Given the description of an element on the screen output the (x, y) to click on. 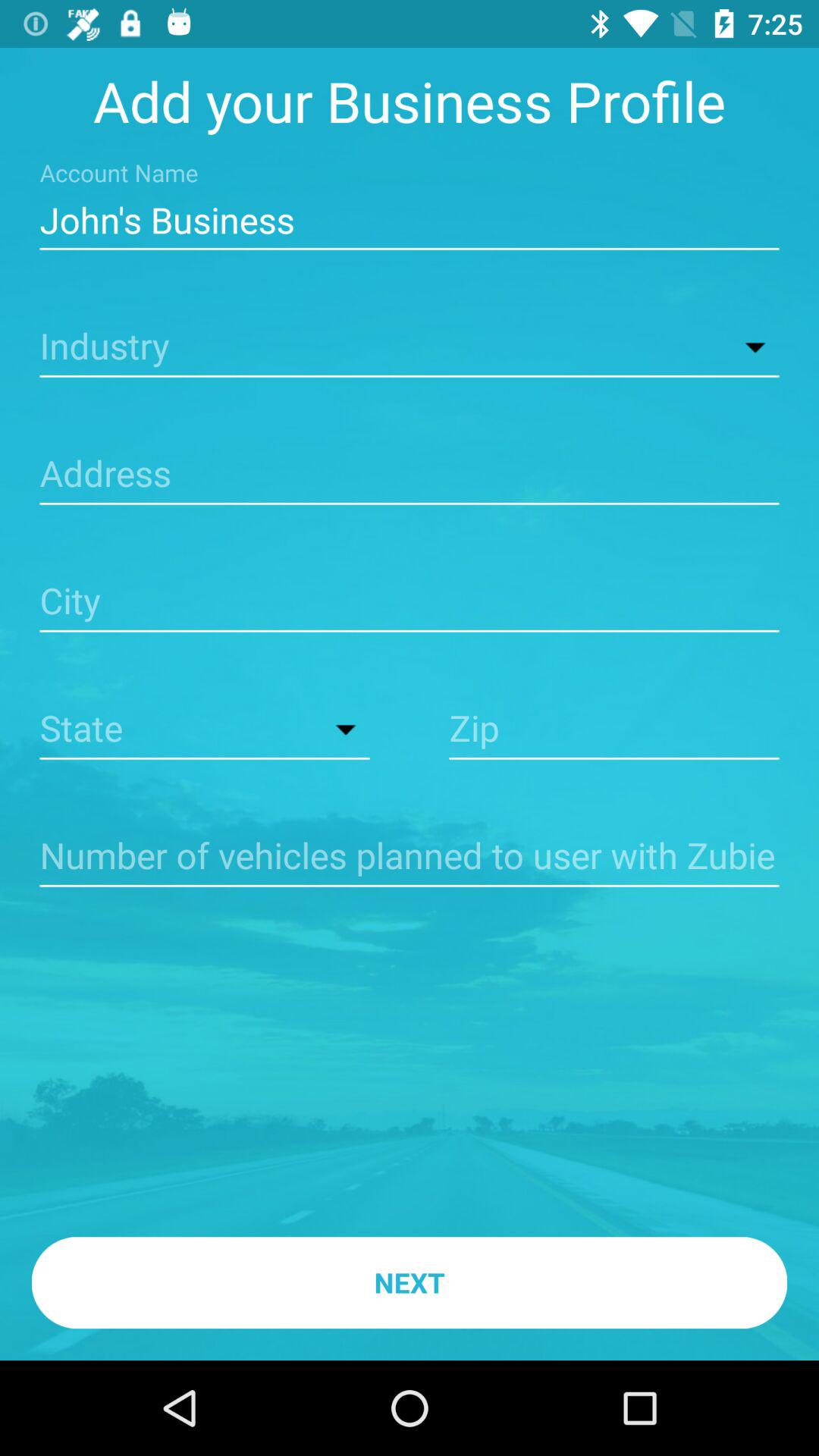
enter city (409, 602)
